Given the description of an element on the screen output the (x, y) to click on. 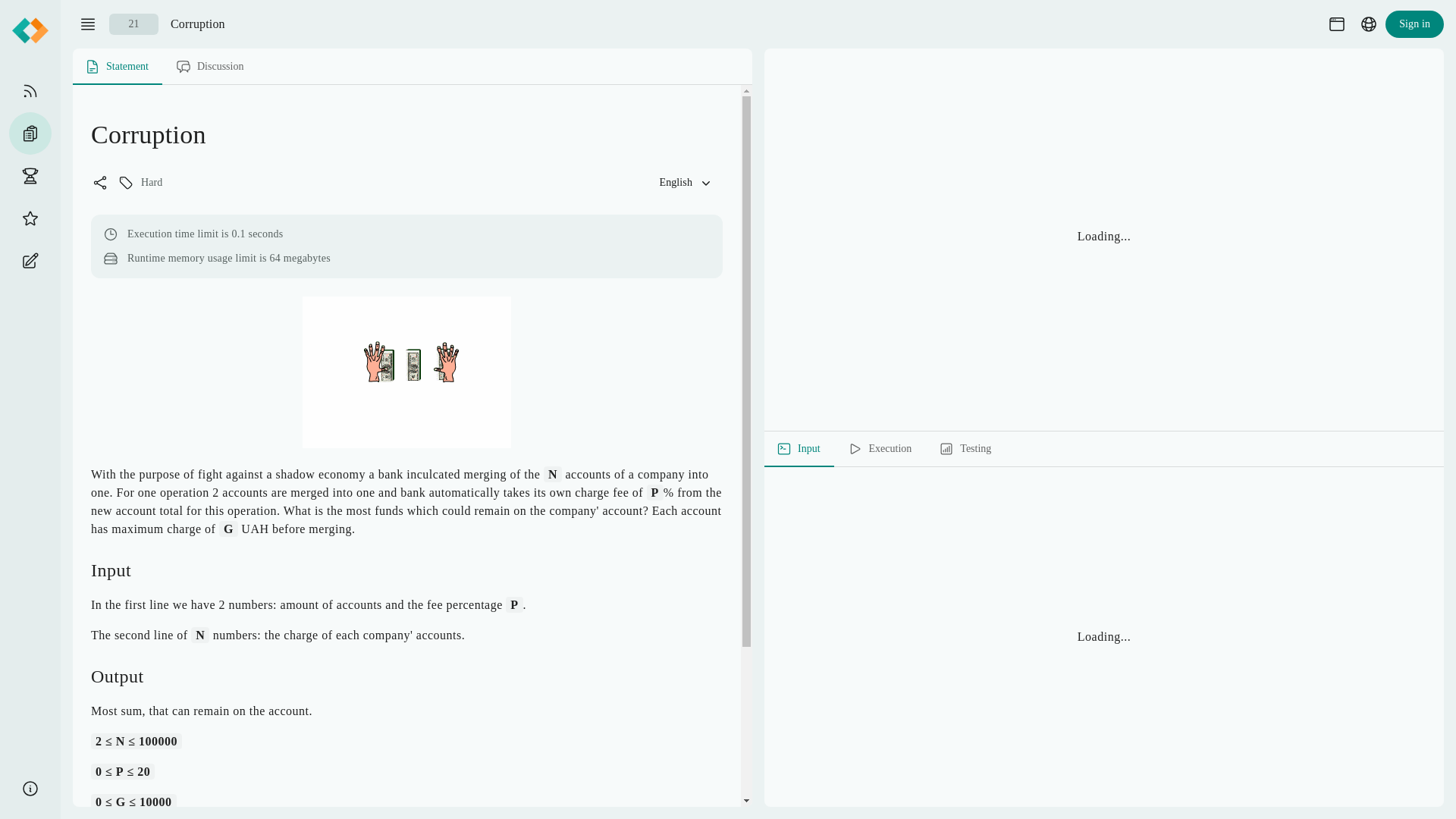
Input (799, 448)
Discussion (211, 66)
Sign in (1415, 23)
Testing (966, 448)
English (684, 182)
Statement (117, 66)
Execution (412, 66)
